Given the description of an element on the screen output the (x, y) to click on. 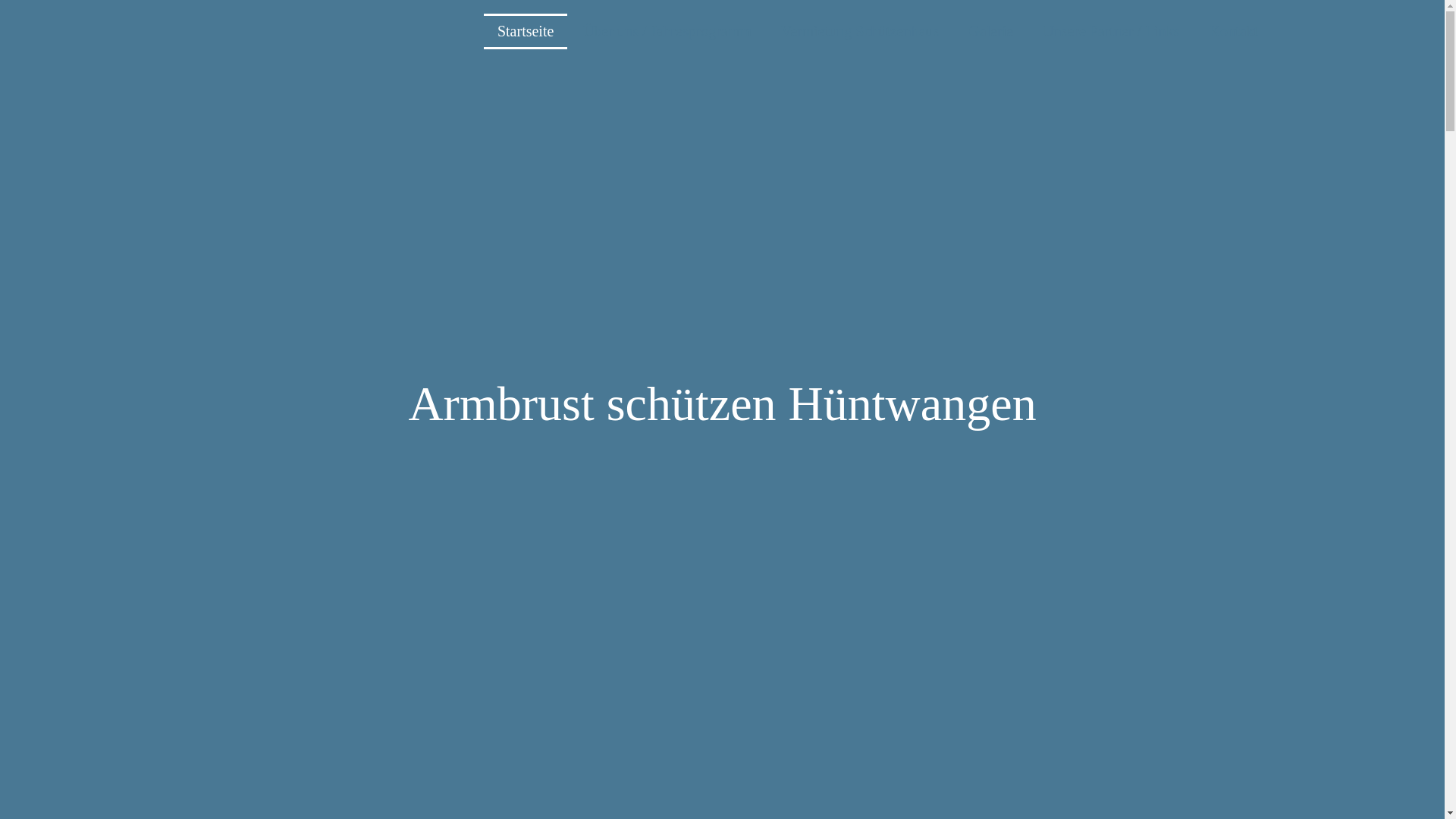
Galerie Element type: text (990, 31)
Startseite Element type: text (525, 31)
Unsere Partner / Links Element type: text (1111, 31)
Kontakt Element type: text (1233, 31)
